Given the description of an element on the screen output the (x, y) to click on. 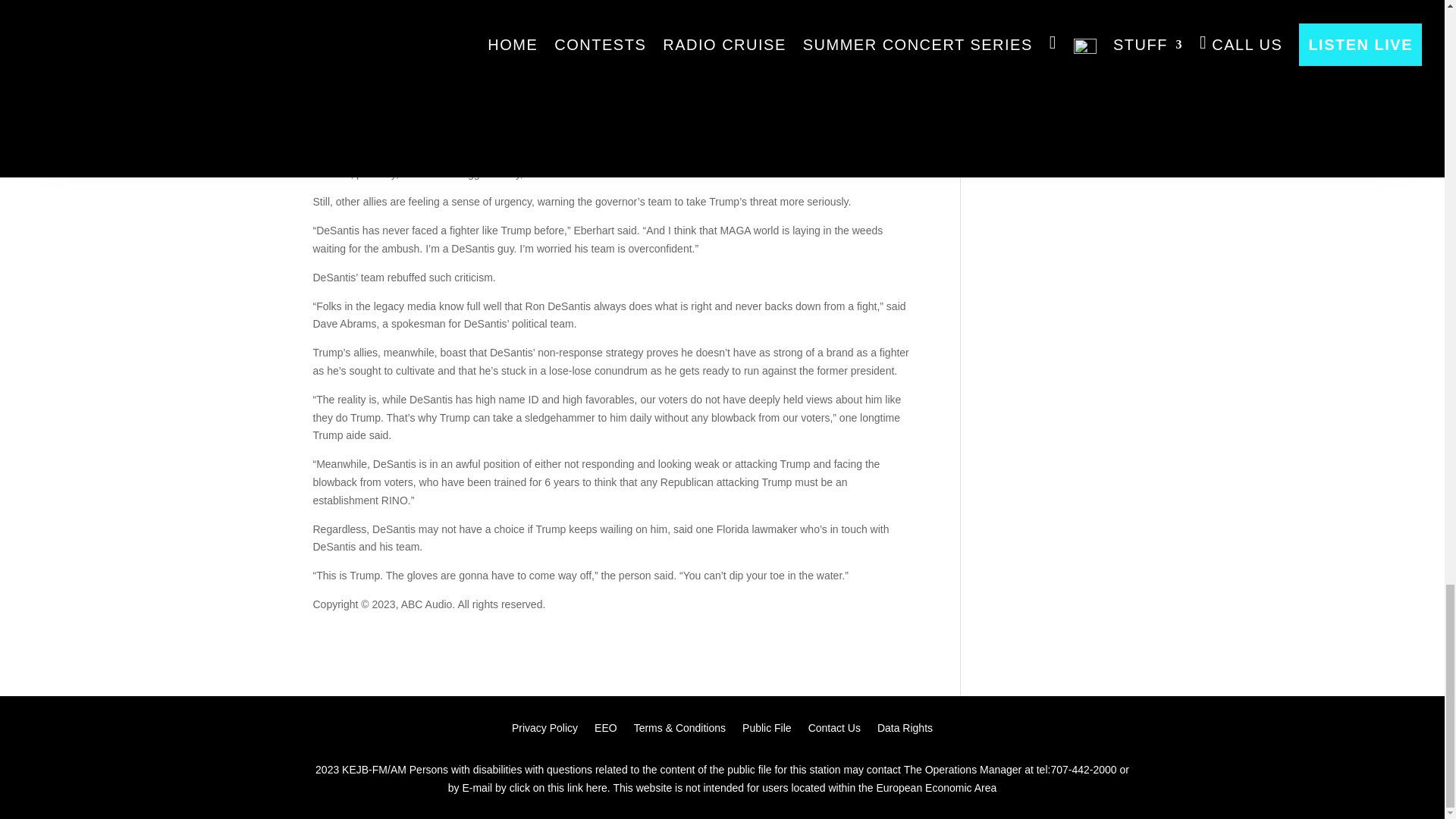
Public File (767, 730)
EEO (605, 730)
Contact Us (834, 730)
here (596, 788)
Data Rights (905, 730)
Privacy Policy (545, 730)
